Given the description of an element on the screen output the (x, y) to click on. 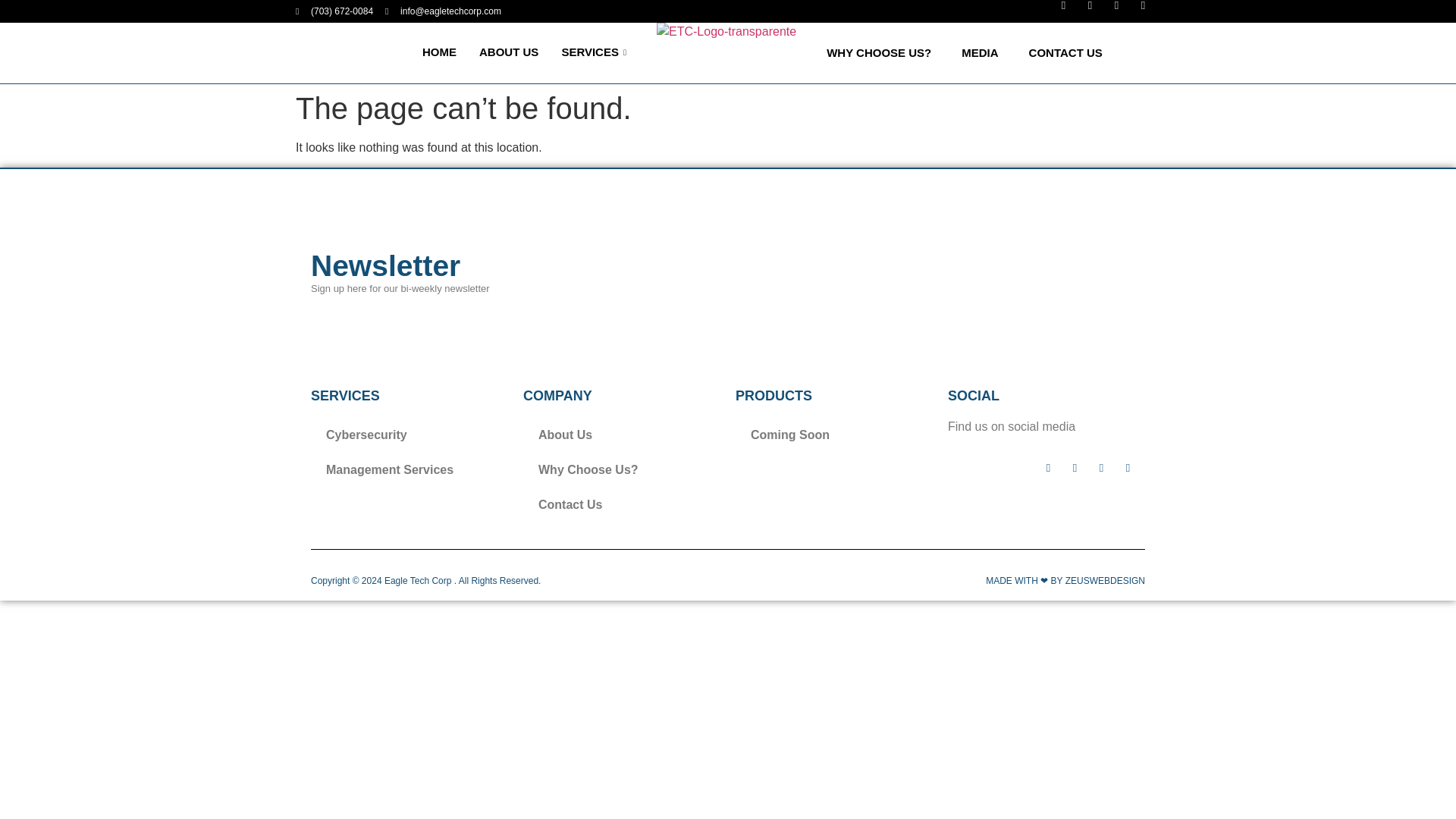
Form 0 (849, 278)
CONTACT US (1065, 53)
ETC-Logo-transparente (726, 52)
SERVICES (596, 51)
ABOUT US (508, 51)
MEDIA (979, 53)
WHY CHOOSE US? (878, 53)
HOME (438, 51)
